Given the description of an element on the screen output the (x, y) to click on. 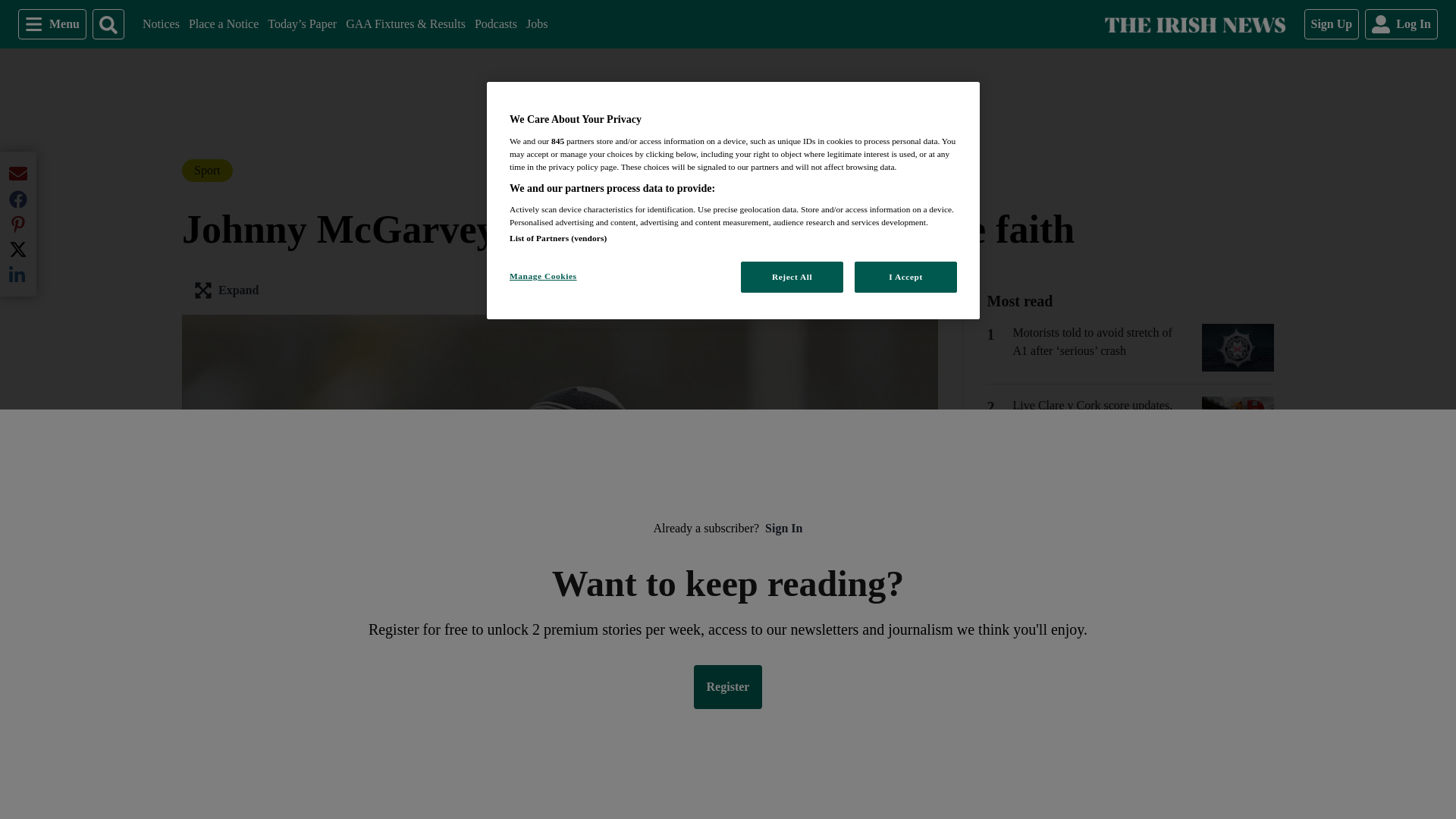
The Irish News (1194, 23)
Sign Up (1331, 24)
Podcasts (495, 24)
Log In (160, 24)
Menu (536, 24)
